Given the description of an element on the screen output the (x, y) to click on. 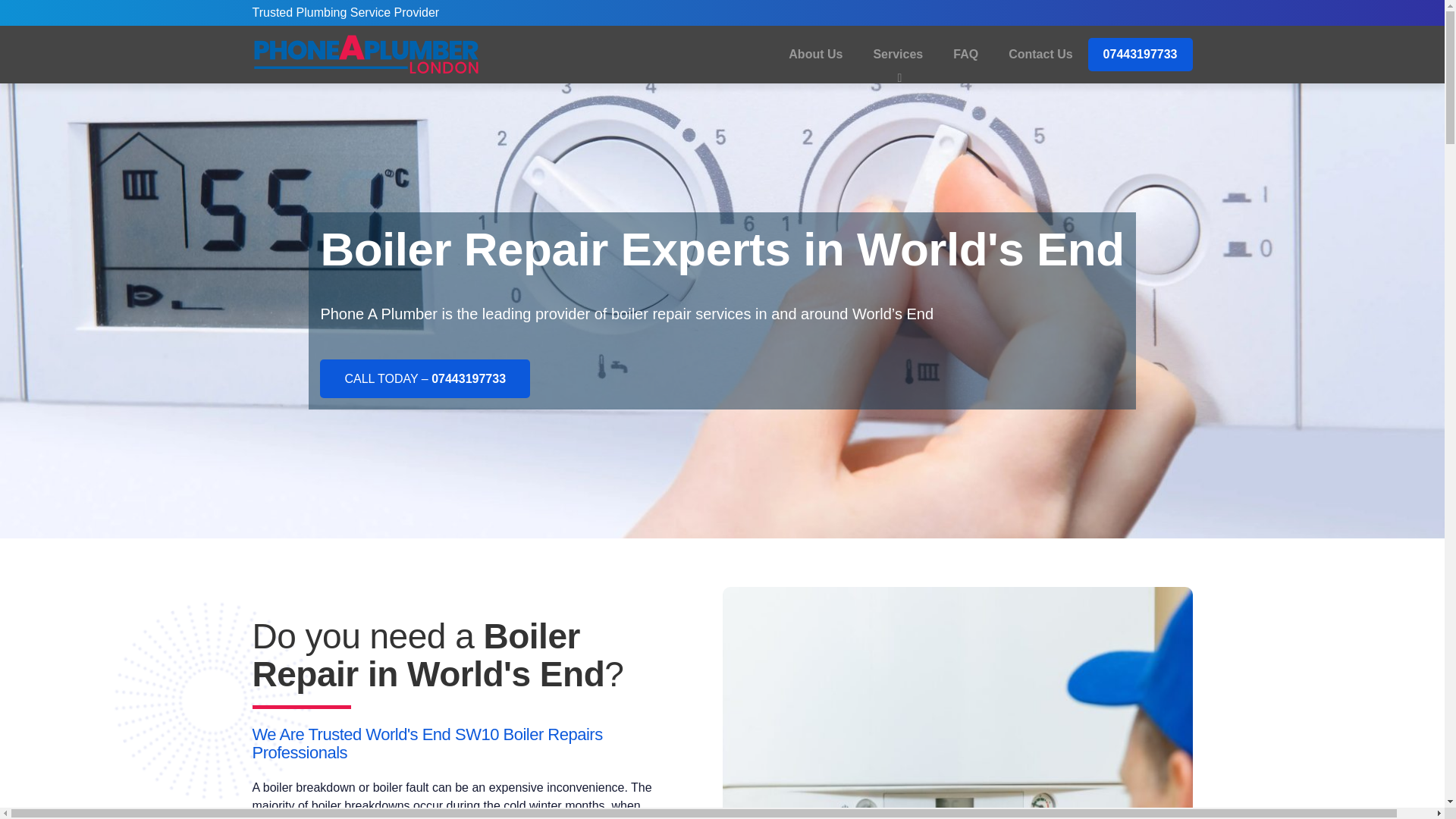
Contact Us (1039, 54)
Services (897, 54)
Local Plumber Boiler Repair (957, 703)
07443197733 (1139, 54)
FAQ (964, 54)
About Us (815, 54)
